Given the description of an element on the screen output the (x, y) to click on. 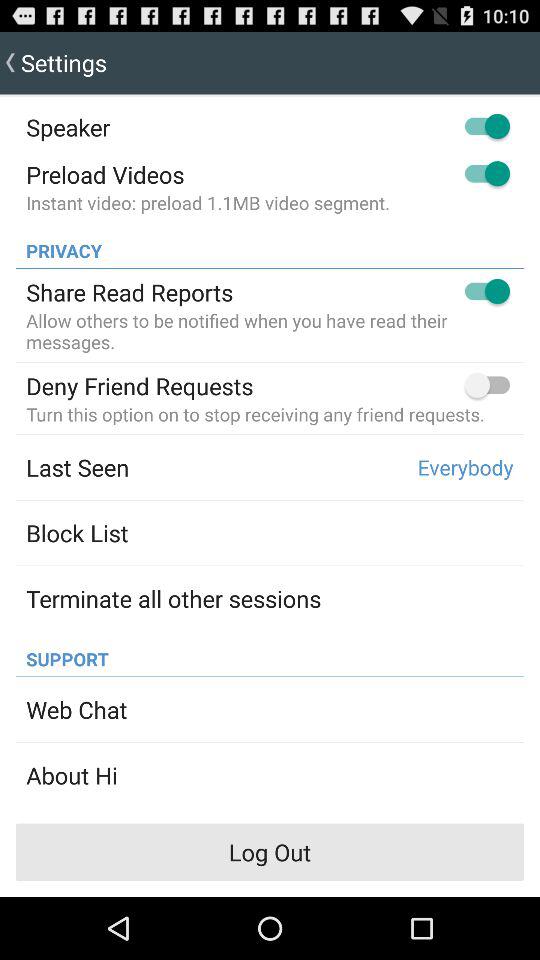
flip until the terminate all other item (173, 598)
